Given the description of an element on the screen output the (x, y) to click on. 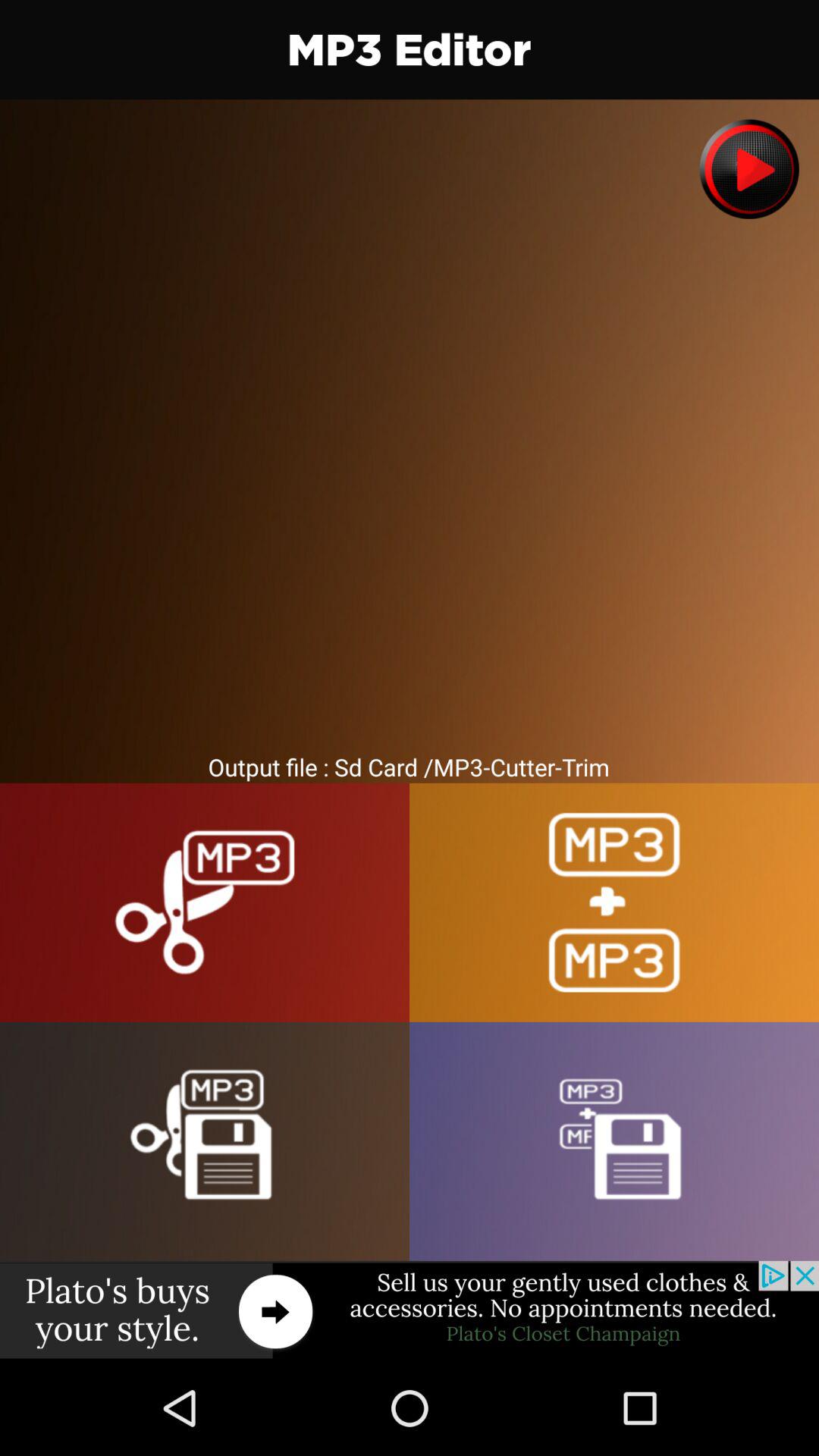
select the mp cutter (204, 902)
